Given the description of an element on the screen output the (x, y) to click on. 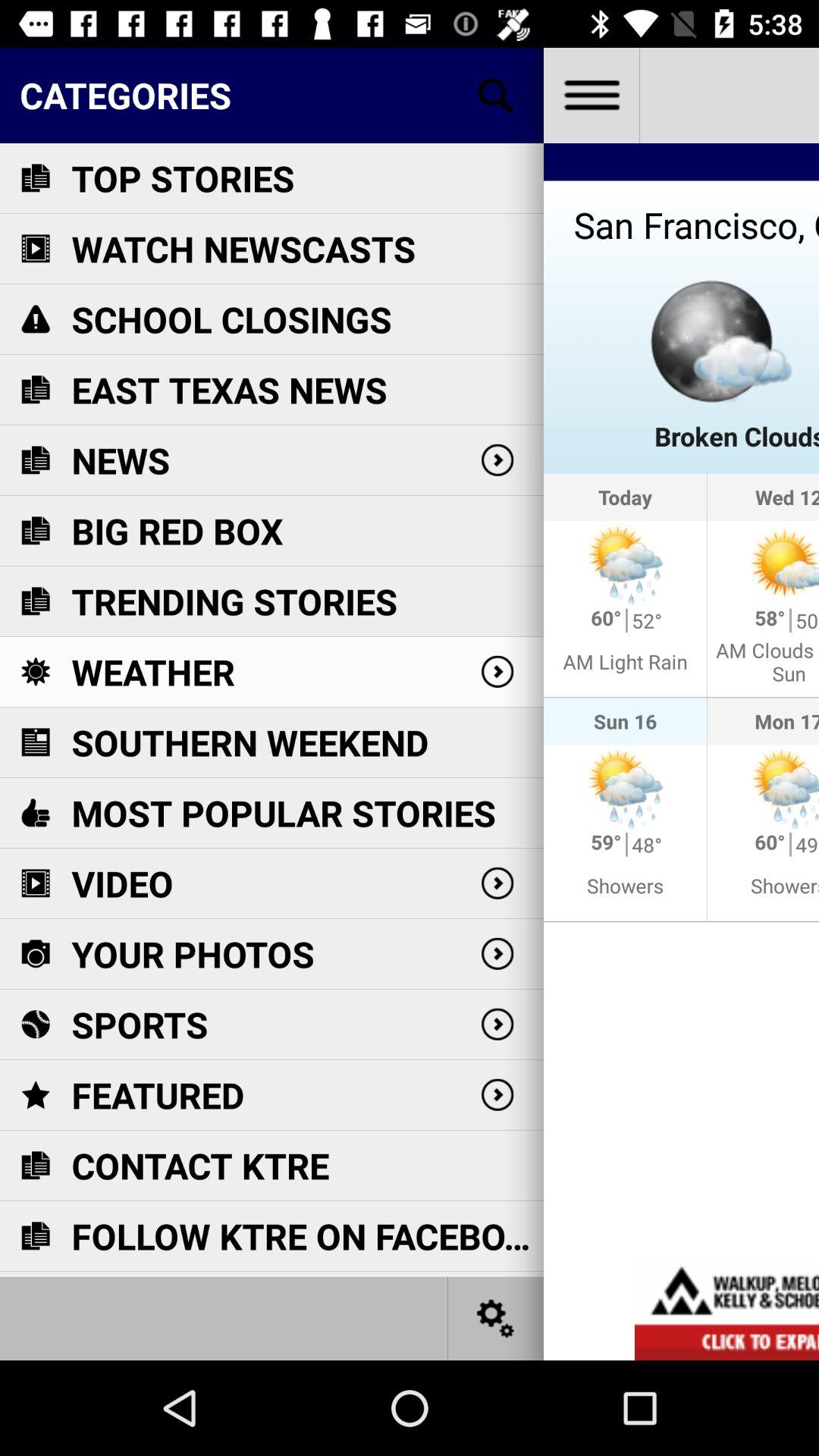
search icon (495, 95)
